Given the description of an element on the screen output the (x, y) to click on. 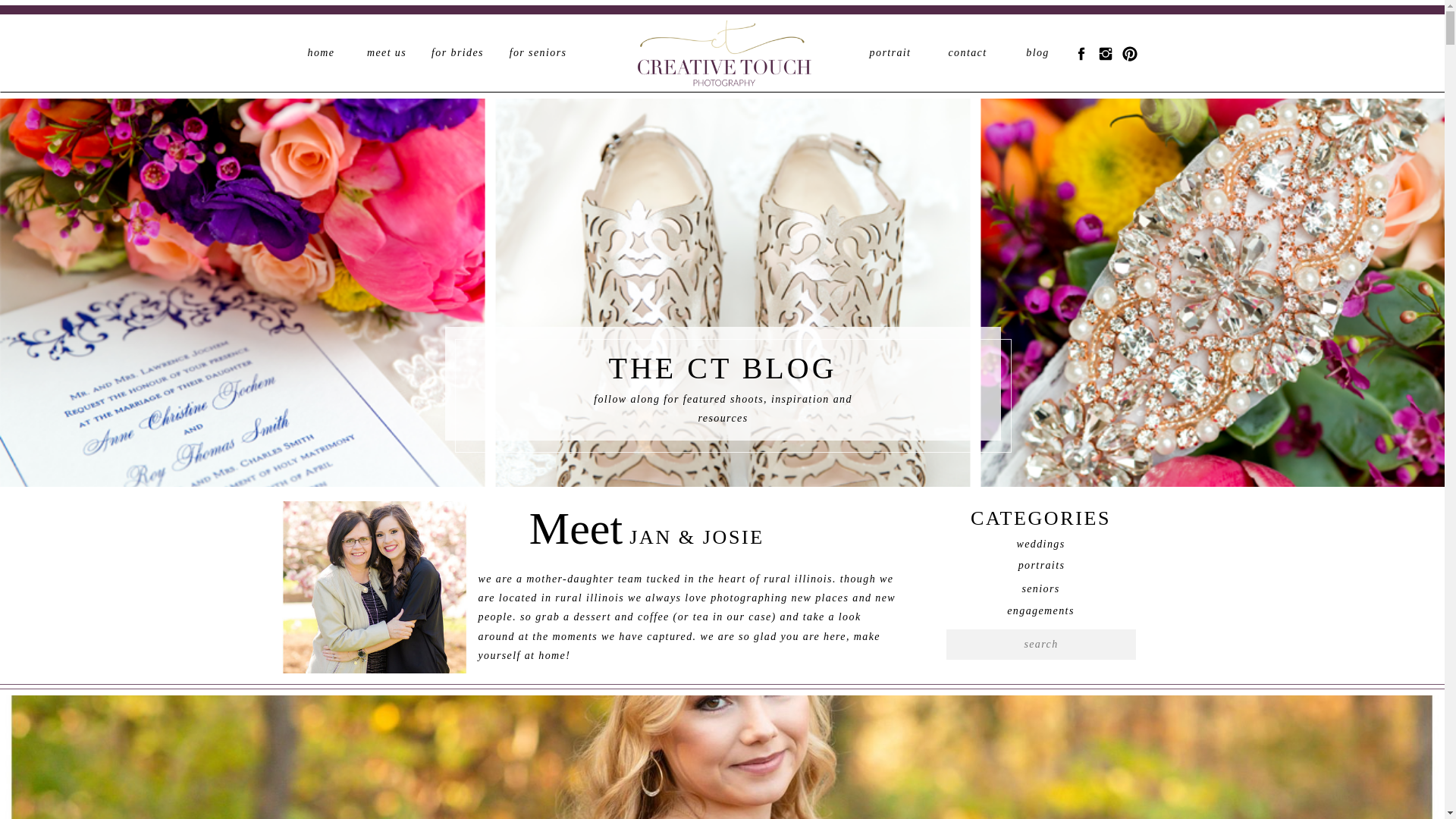
engagements (1040, 610)
blog (1036, 52)
weddings (1040, 543)
portraits (1040, 564)
for seniors (538, 52)
for brides (457, 52)
seniors (1040, 588)
contact (967, 52)
home (321, 52)
meet us (386, 52)
